Given the description of an element on the screen output the (x, y) to click on. 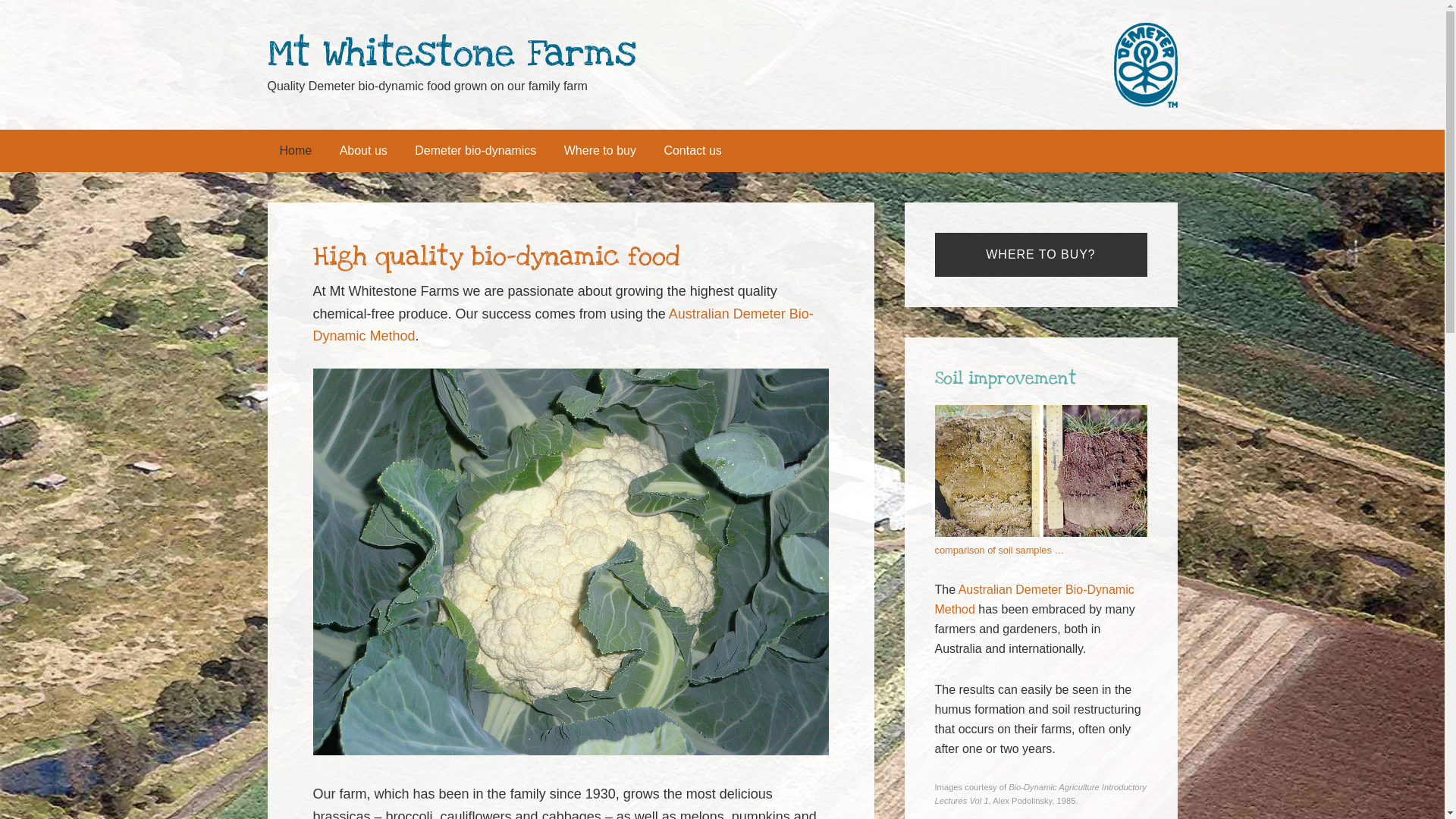
Australian Demeter Bio-Dynamic Method Element type: text (562, 324)
Australian Demeter Bio-Dynamic Method Element type: text (1033, 599)
Home Element type: text (294, 150)
Where to buy Element type: text (600, 150)
WHERE TO BUY? Element type: text (1040, 254)
Contact us Element type: text (692, 150)
Mt Whitestone Farms Element type: text (450, 53)
Demeter bio-dynamics Element type: text (475, 150)
About us Element type: text (363, 150)
